Given the description of an element on the screen output the (x, y) to click on. 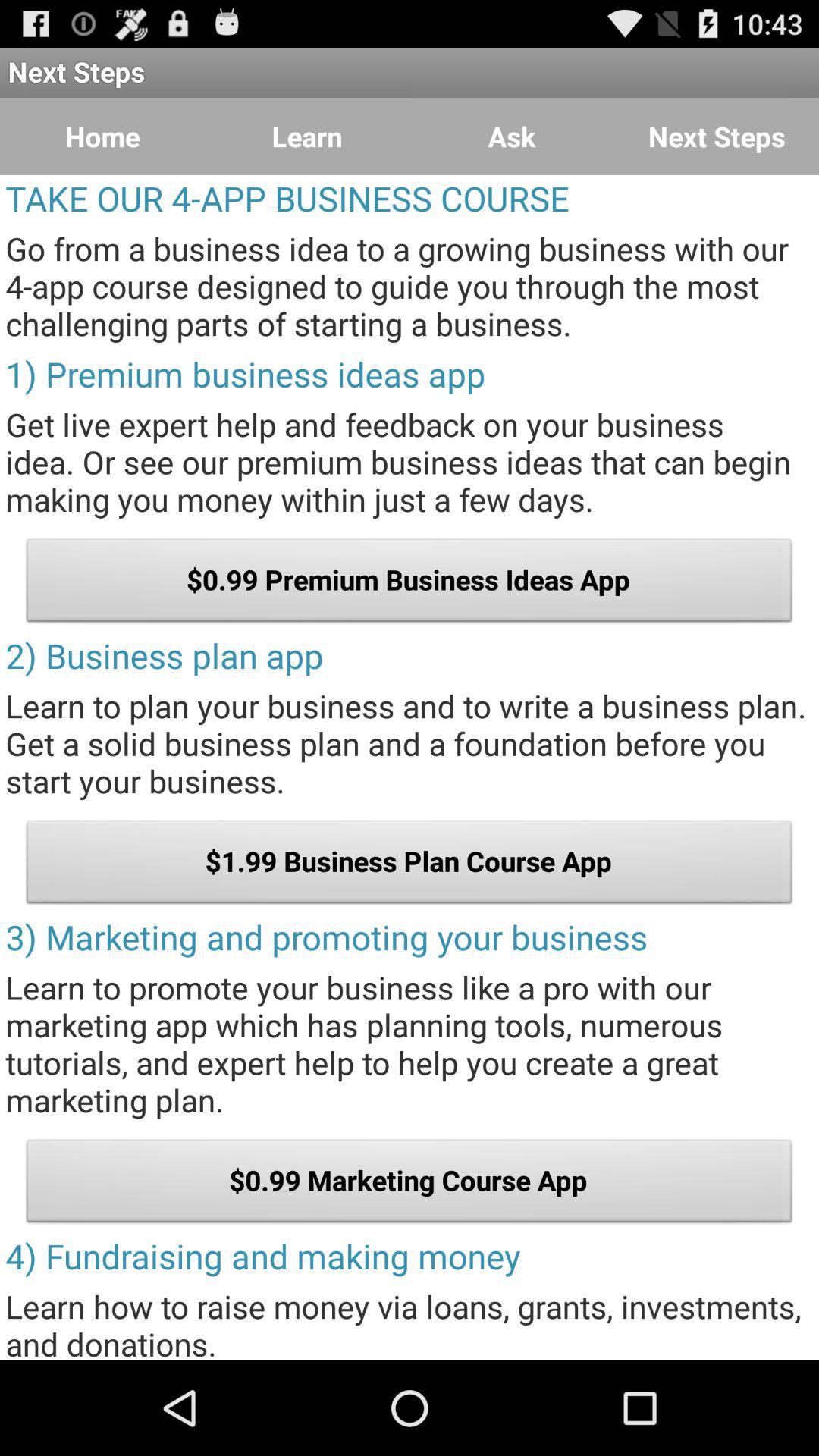
turn off the app below next steps icon (511, 136)
